Given the description of an element on the screen output the (x, y) to click on. 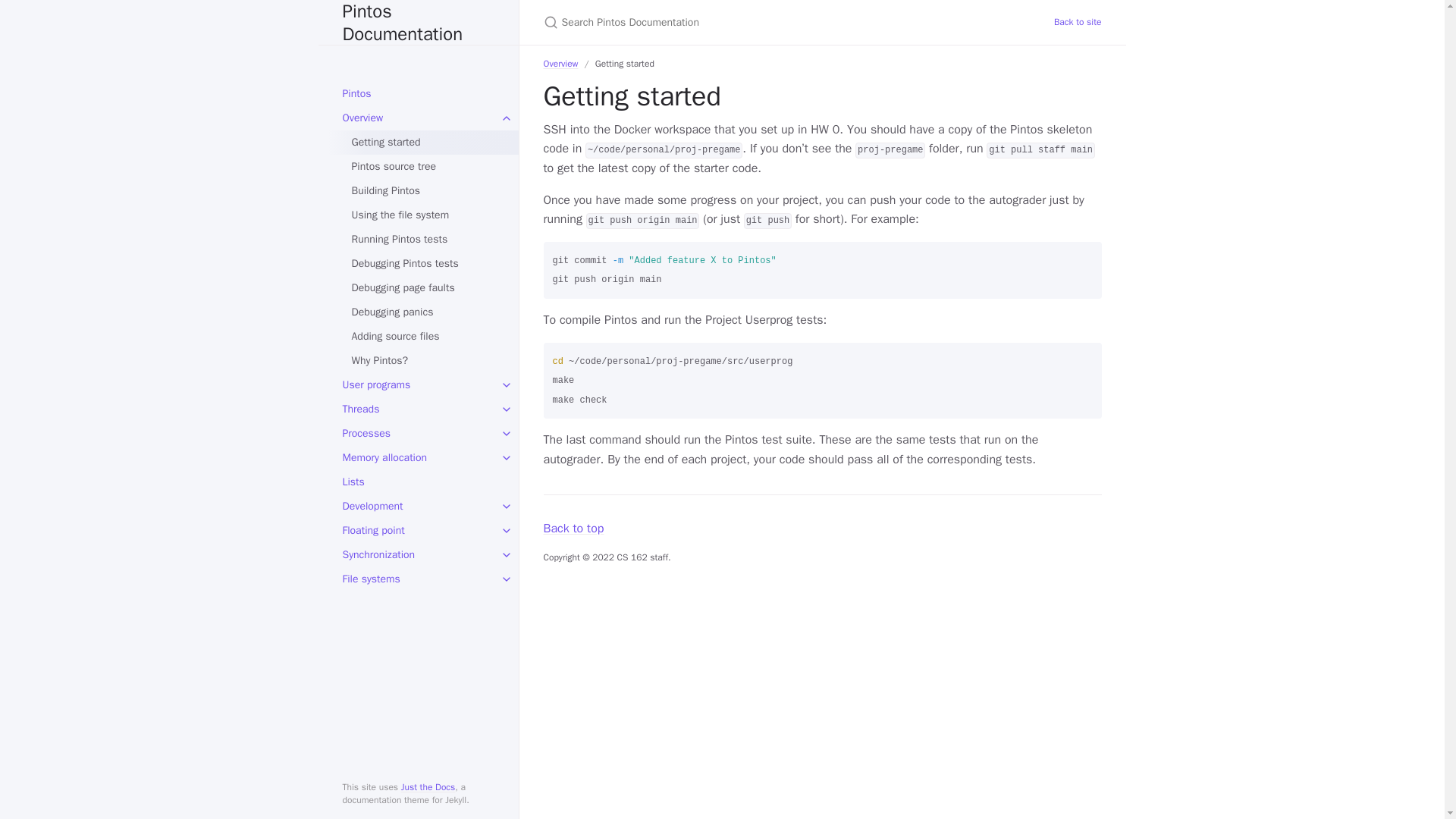
Debugging page faults (422, 288)
Pintos Documentation (418, 22)
Getting started (422, 142)
Using the file system (422, 215)
Memory allocation (418, 457)
Building Pintos (422, 191)
Running Pintos tests (422, 239)
Processes (418, 433)
Debugging Pintos tests (422, 263)
Pintos source tree (422, 166)
Debugging panics (422, 312)
Overview (418, 118)
User programs (418, 385)
Why Pintos? (422, 360)
Adding source files (422, 336)
